Given the description of an element on the screen output the (x, y) to click on. 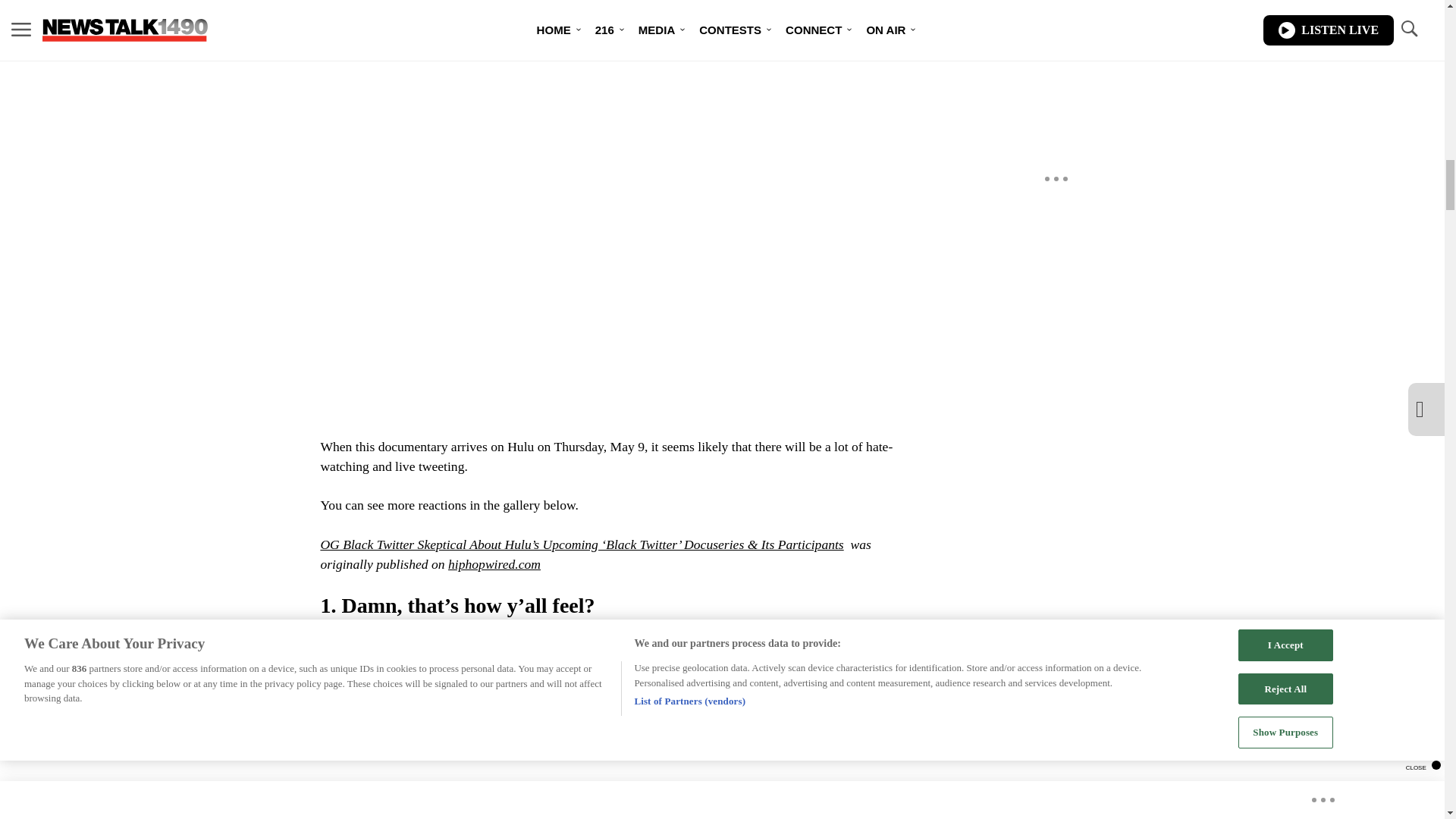
hiphopwired.com (494, 563)
